Given the description of an element on the screen output the (x, y) to click on. 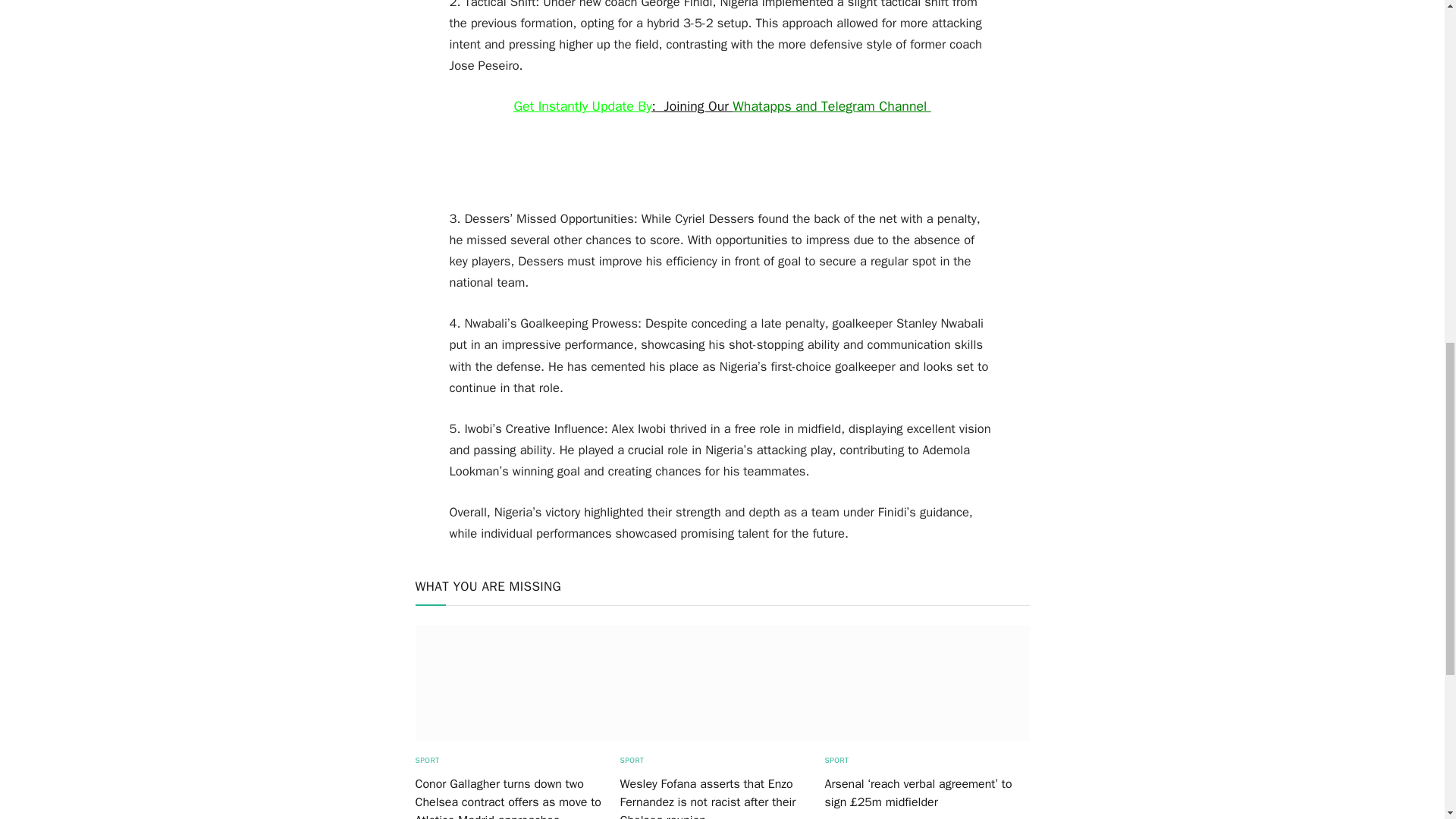
Whatapps and Telegram Channel  (831, 105)
